Given the description of an element on the screen output the (x, y) to click on. 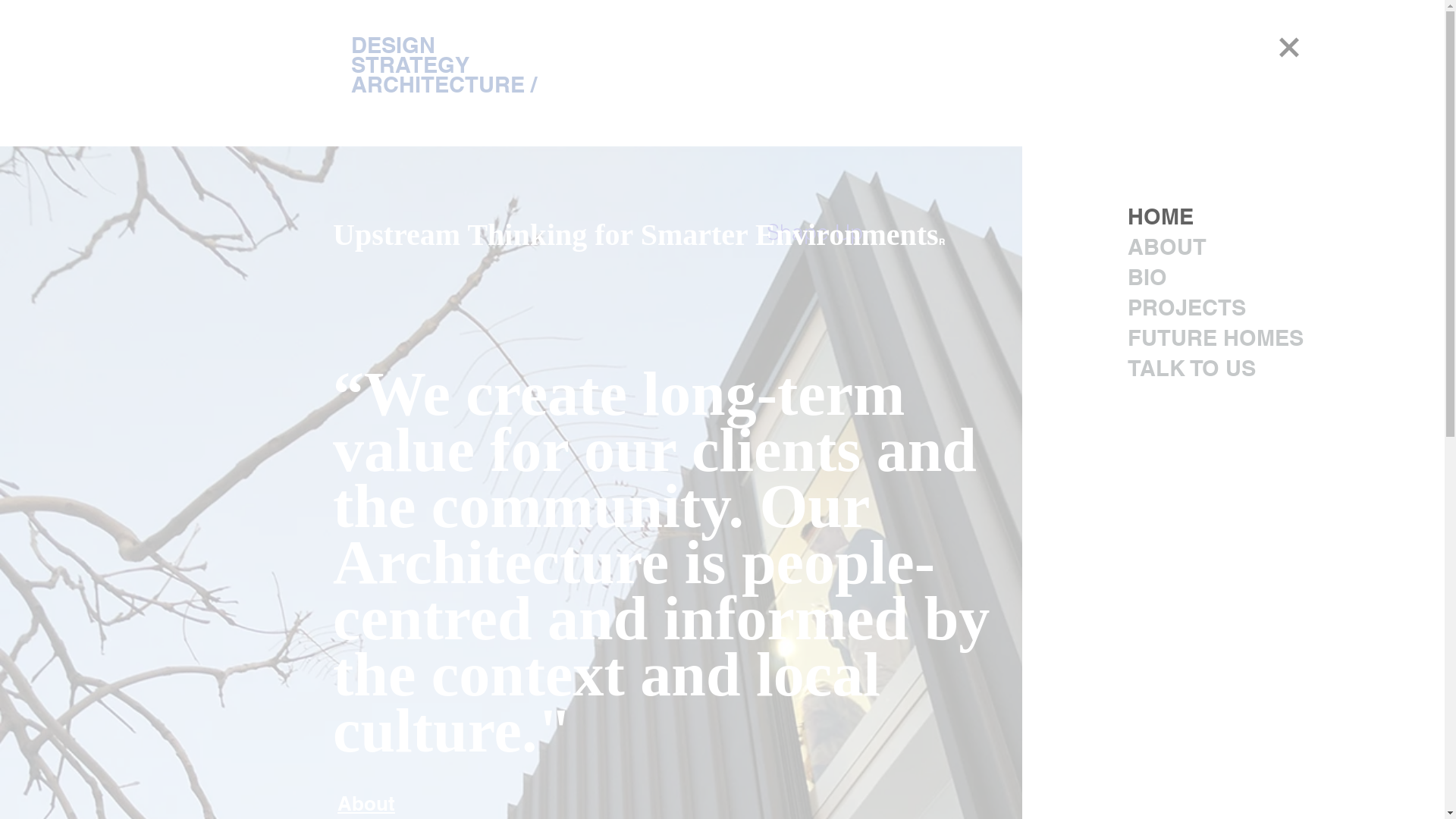
FUTURE HOMES Element type: text (1215, 338)
Back to site Element type: hover (1289, 47)
BIO Element type: text (1215, 277)
Upstream Thinking for Smarter Environments Element type: text (635, 234)
ABOUT Element type: text (1215, 247)
DESIGN 
STRATEGY
ARCHITECTURE / Element type: text (443, 64)
R Element type: text (941, 241)
HOME Element type: text (1215, 216)
PROJECTS Element type: text (1215, 307)
TALK TO US Element type: text (1215, 368)
About Element type: text (366, 802)
